Given the description of an element on the screen output the (x, y) to click on. 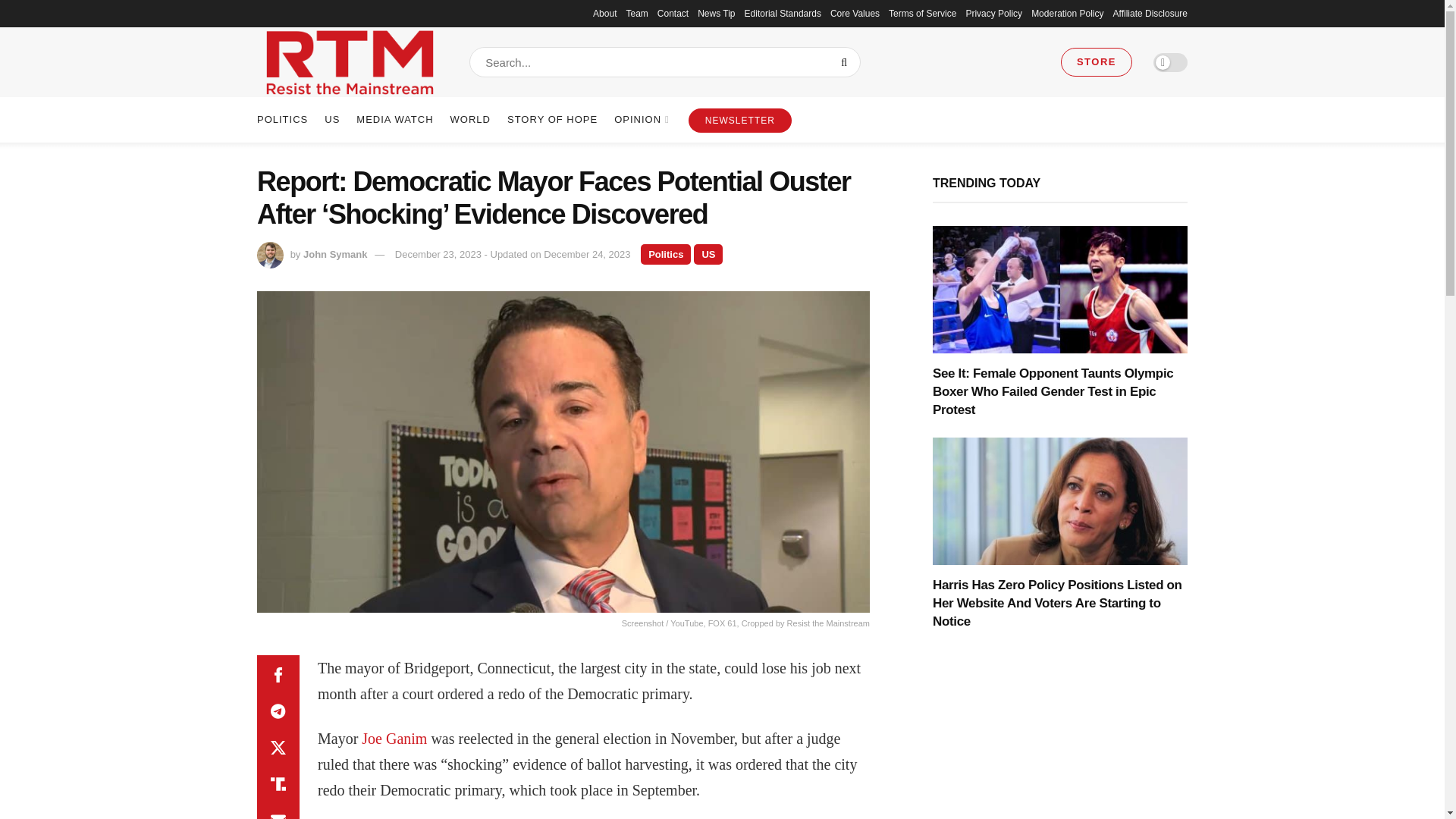
STORY OF HOPE (551, 119)
December 23, 2023 - Updated on December 24, 2023 (512, 254)
Affiliate Disclosure (1150, 13)
Politics (665, 254)
Core Values (854, 13)
OPINION (640, 119)
News Tip (716, 13)
John Symank (335, 254)
Privacy Policy (993, 13)
US (708, 254)
